Given the description of an element on the screen output the (x, y) to click on. 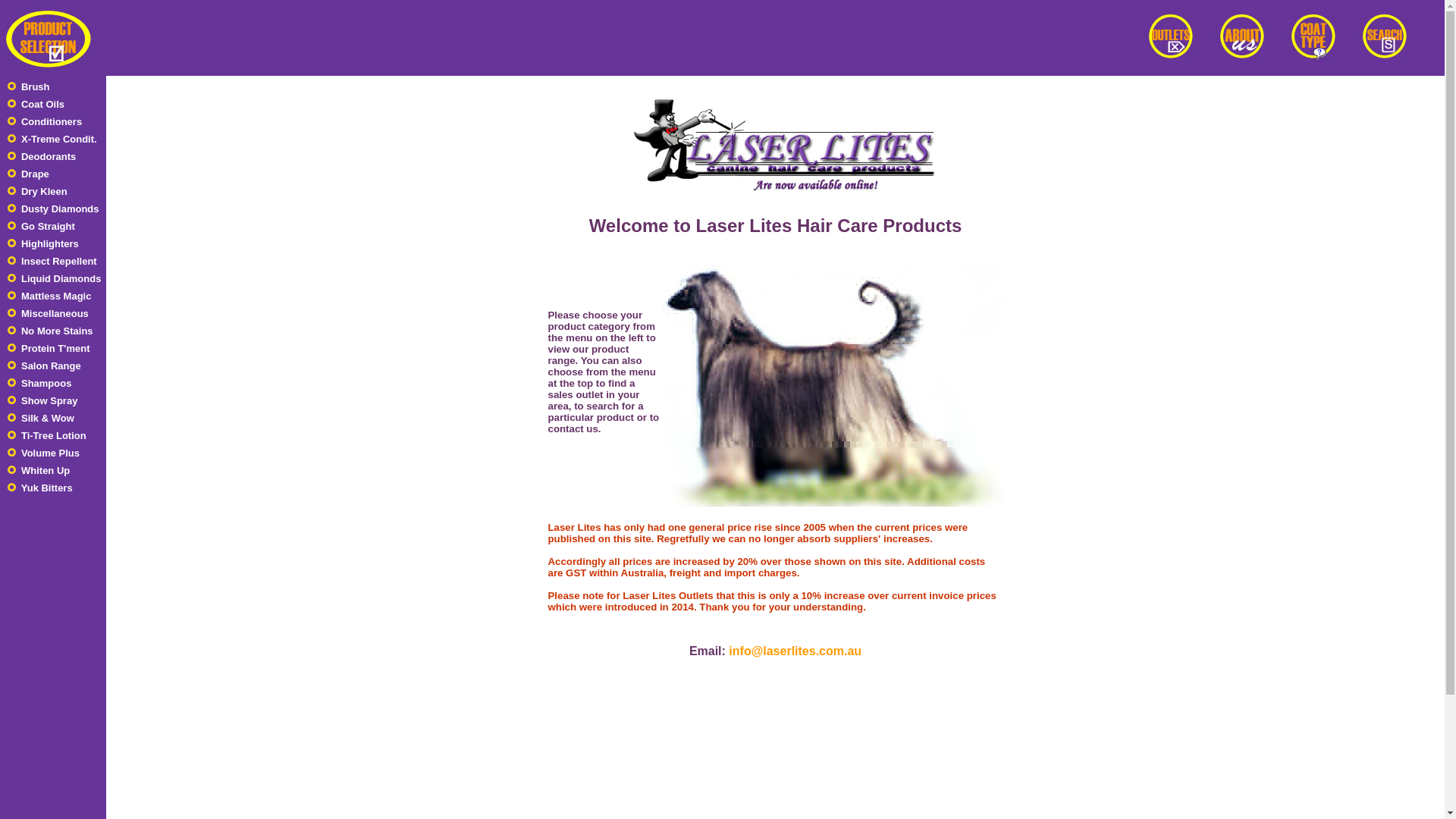
  Mattless Magic Element type: text (49, 295)
  Miscellaneous Element type: text (47, 313)
  Go Straight Element type: text (41, 226)
  Drape Element type: text (28, 173)
  Protein T'ment Element type: text (48, 348)
  Highlighters Element type: text (42, 243)
info@laserlites.com.au Element type: text (794, 650)
  Ti-Tree Lotion Element type: text (46, 435)
  Insect Repellent Element type: text (52, 260)
  Dry Kleen Element type: text (37, 191)
  Brush Element type: text (28, 86)
  Volume Plus Element type: text (43, 452)
  Silk & Wow Element type: text (40, 417)
  Deodorants Element type: text (41, 156)
  Conditioners Element type: text (44, 121)
  Salon Range Element type: text (44, 365)
  Coat Oils Element type: text (35, 103)
  Shampoos Element type: text (39, 383)
  Liquid Diamonds Element type: text (54, 278)
  Whiten Up Element type: text (38, 470)
  No More Stains Element type: text (50, 330)
  X-Treme Condit. Element type: text (52, 138)
  Dusty Diamonds Element type: text (53, 208)
  Show Spray Element type: text (42, 400)
  Yuk Bitters Element type: text (39, 487)
